Given the description of an element on the screen output the (x, y) to click on. 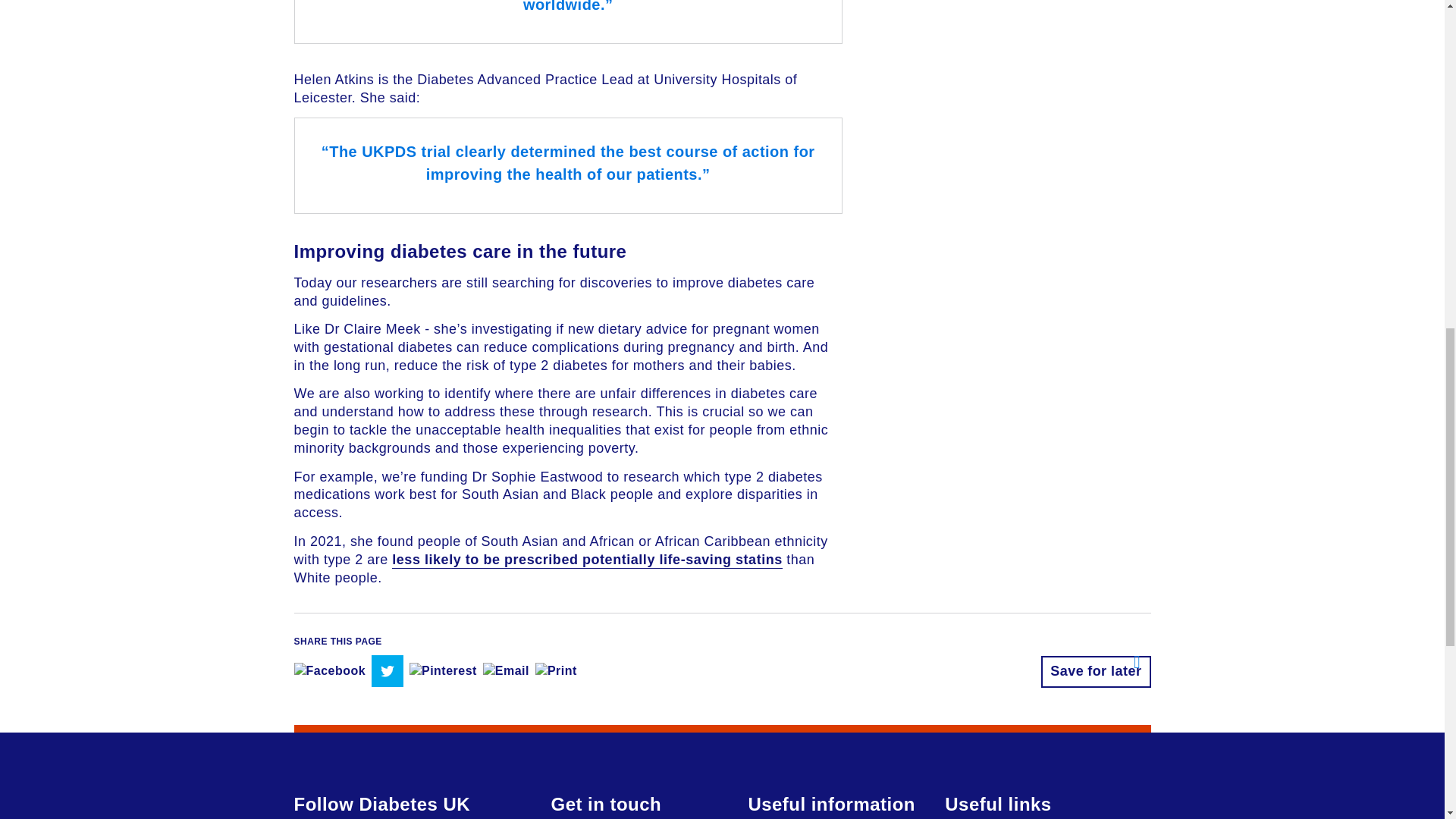
less likely to be prescribed potentially life-saving statins (587, 560)
